Given the description of an element on the screen output the (x, y) to click on. 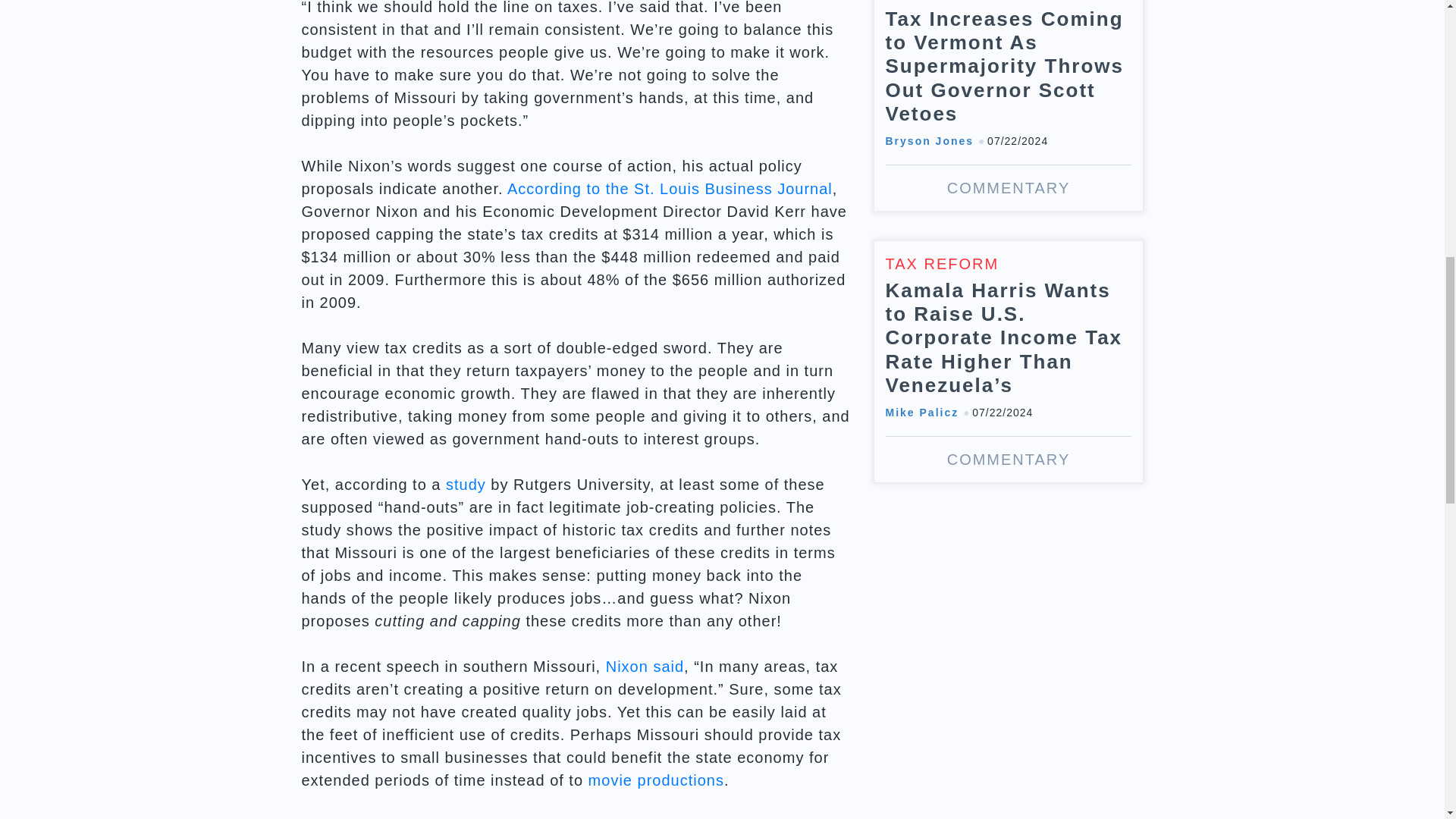
movie productions (655, 780)
According to the St. Louis Business Journal (669, 188)
study (465, 484)
Nixon said (644, 666)
